Given the description of an element on the screen output the (x, y) to click on. 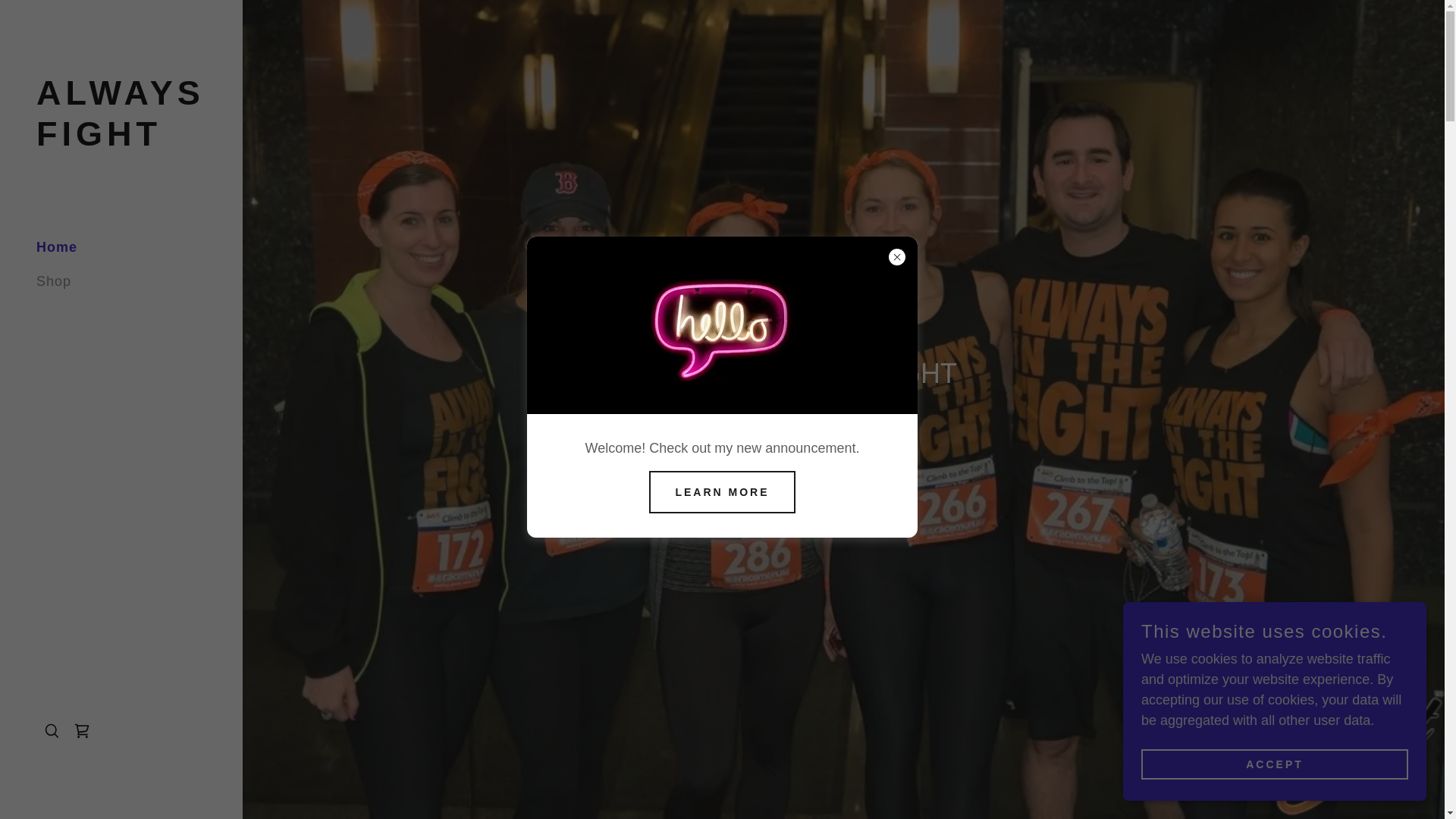
Shop (121, 140)
Home (53, 281)
JOIN NOW (56, 246)
ACCEPT (843, 441)
LEARN MORE (1274, 764)
